Given the description of an element on the screen output the (x, y) to click on. 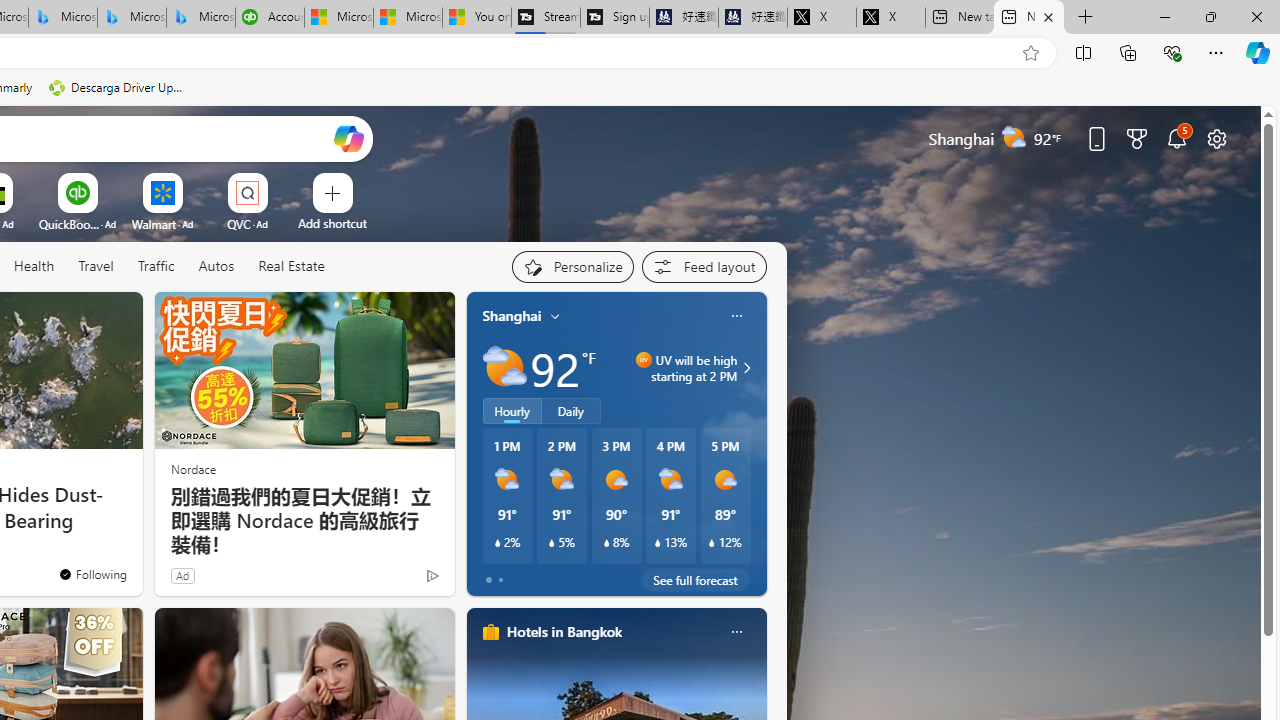
New tab (1028, 17)
Browser essentials (1171, 52)
Page settings (1216, 138)
Close (1256, 16)
Traffic (155, 267)
Real Estate (291, 265)
Health (34, 265)
Microsoft rewards (1137, 138)
Copilot (Ctrl+Shift+.) (1258, 52)
Minimize (1164, 16)
Hotels in Bangkok (563, 631)
